Given the description of an element on the screen output the (x, y) to click on. 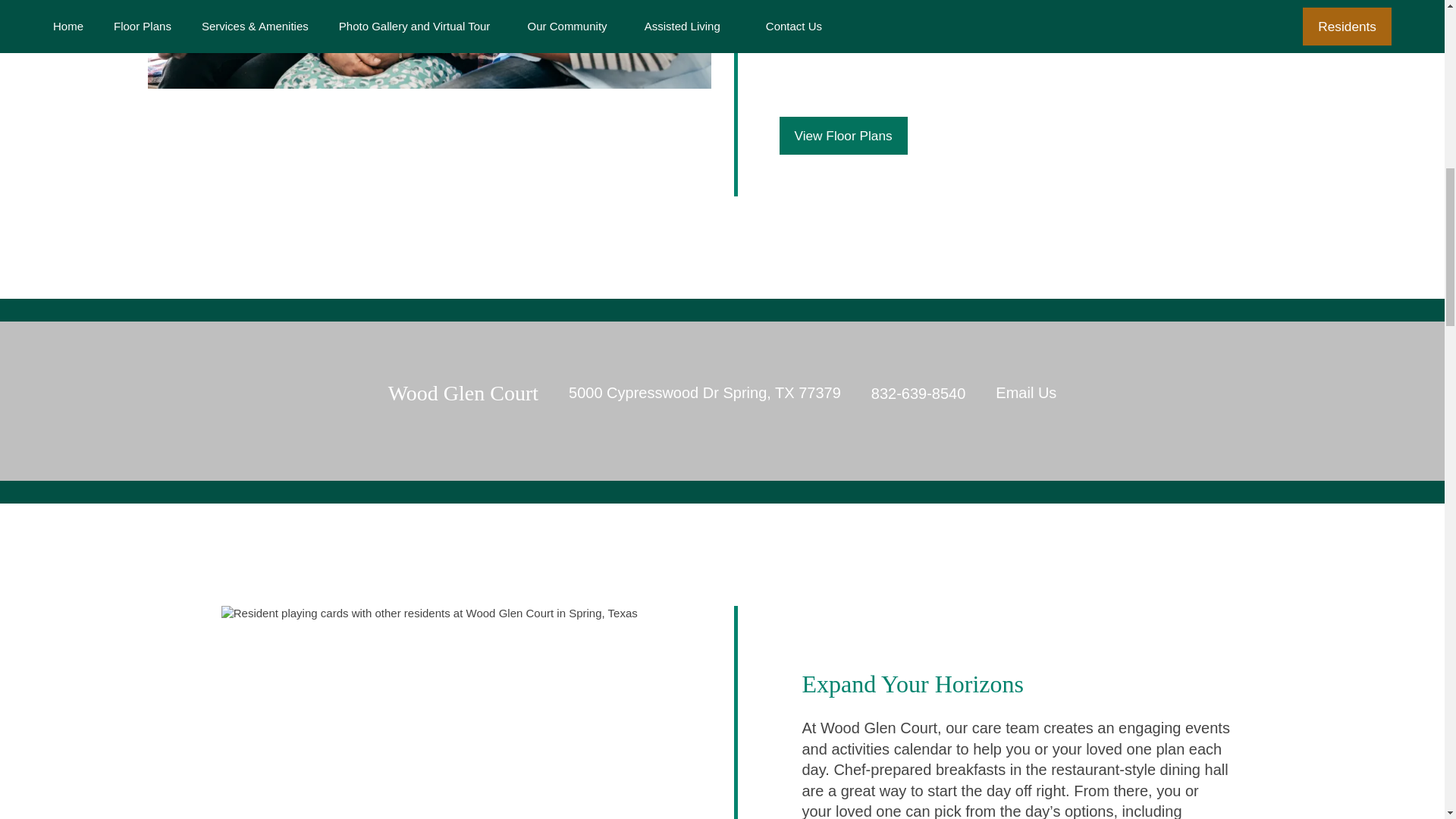
Property Phone Number (918, 393)
5000 Cypresswood Dr Spring, TX 77379 (705, 393)
832-639-8540 (918, 393)
Email Us (1026, 393)
View Floor Plans (842, 135)
